Given the description of an element on the screen output the (x, y) to click on. 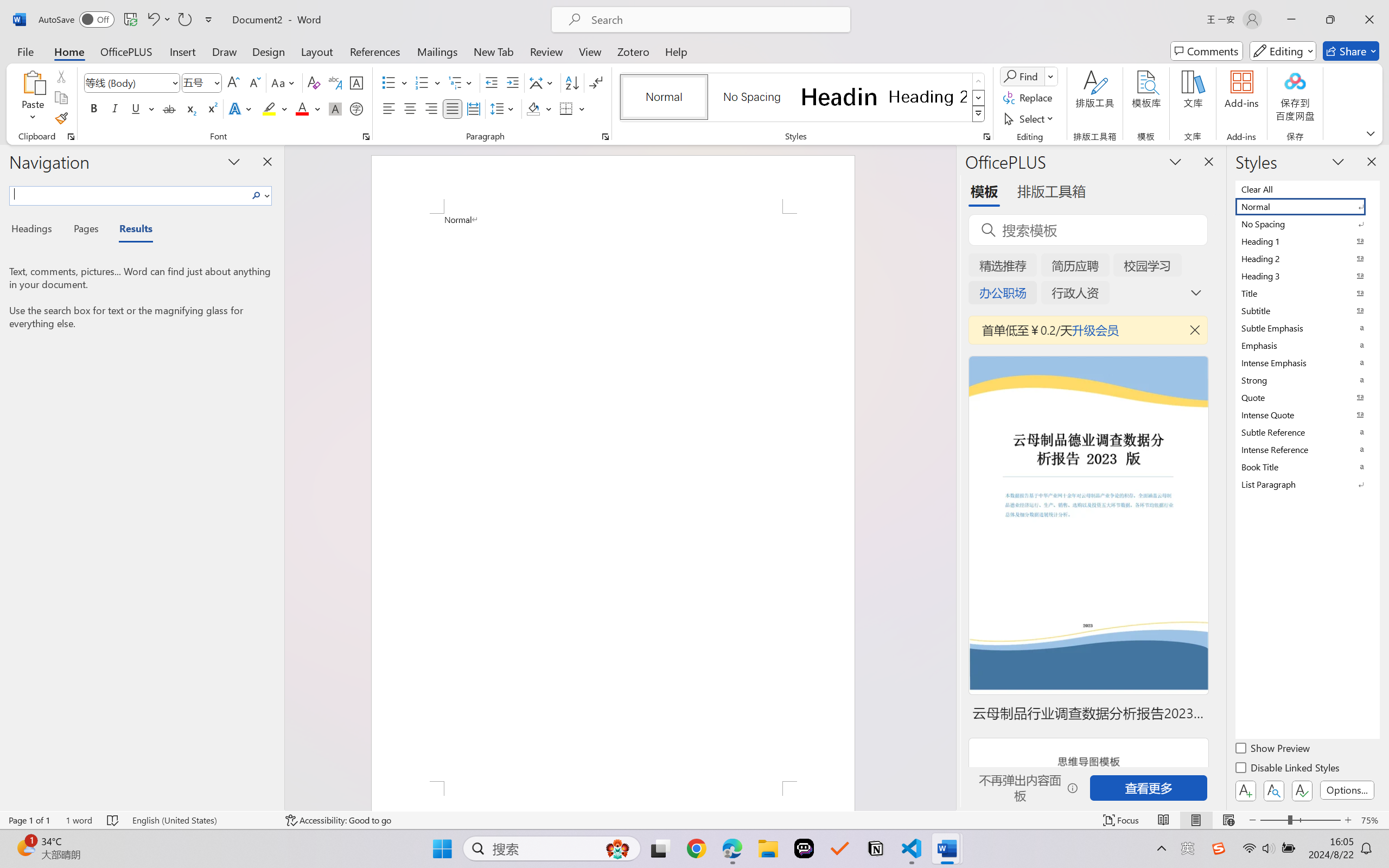
Underline (135, 108)
Office Clipboard... (70, 136)
Replace... (1029, 97)
Shrink Font (253, 82)
Undo Apply Quick Style (158, 19)
Text Effects and Typography (241, 108)
Zotero (632, 51)
Show Preview (1273, 749)
Asian Layout (542, 82)
AutomationID: QuickStylesGallery (802, 97)
Character Border (356, 82)
Font Color Red (302, 108)
Paste (33, 81)
